Given the description of an element on the screen output the (x, y) to click on. 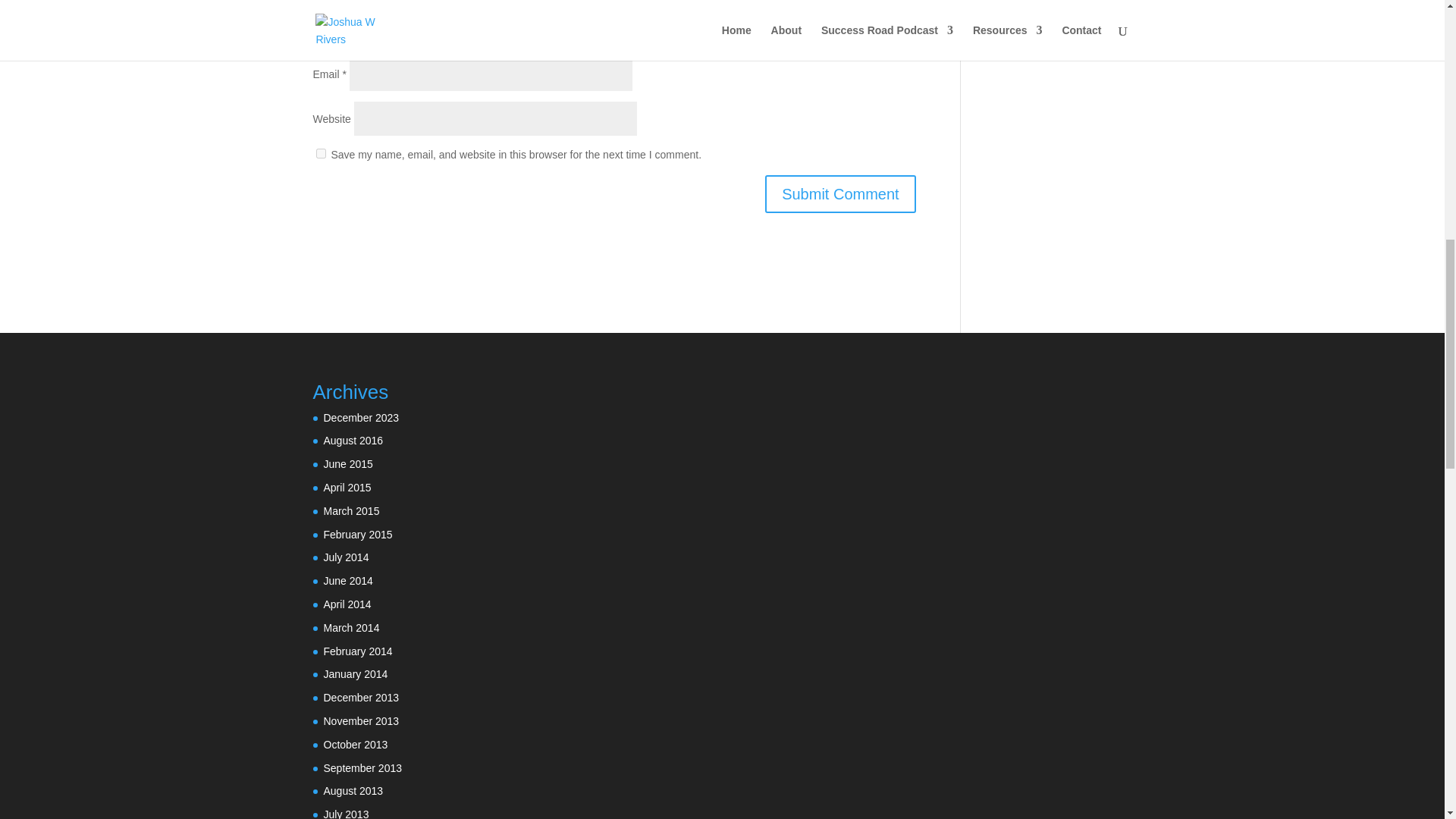
Submit Comment (840, 193)
Submit Comment (840, 193)
March 2015 (350, 510)
yes (319, 153)
June 2015 (347, 463)
April 2015 (347, 487)
July 2014 (345, 557)
February 2015 (357, 534)
August 2016 (352, 440)
December 2023 (360, 417)
